Given the description of an element on the screen output the (x, y) to click on. 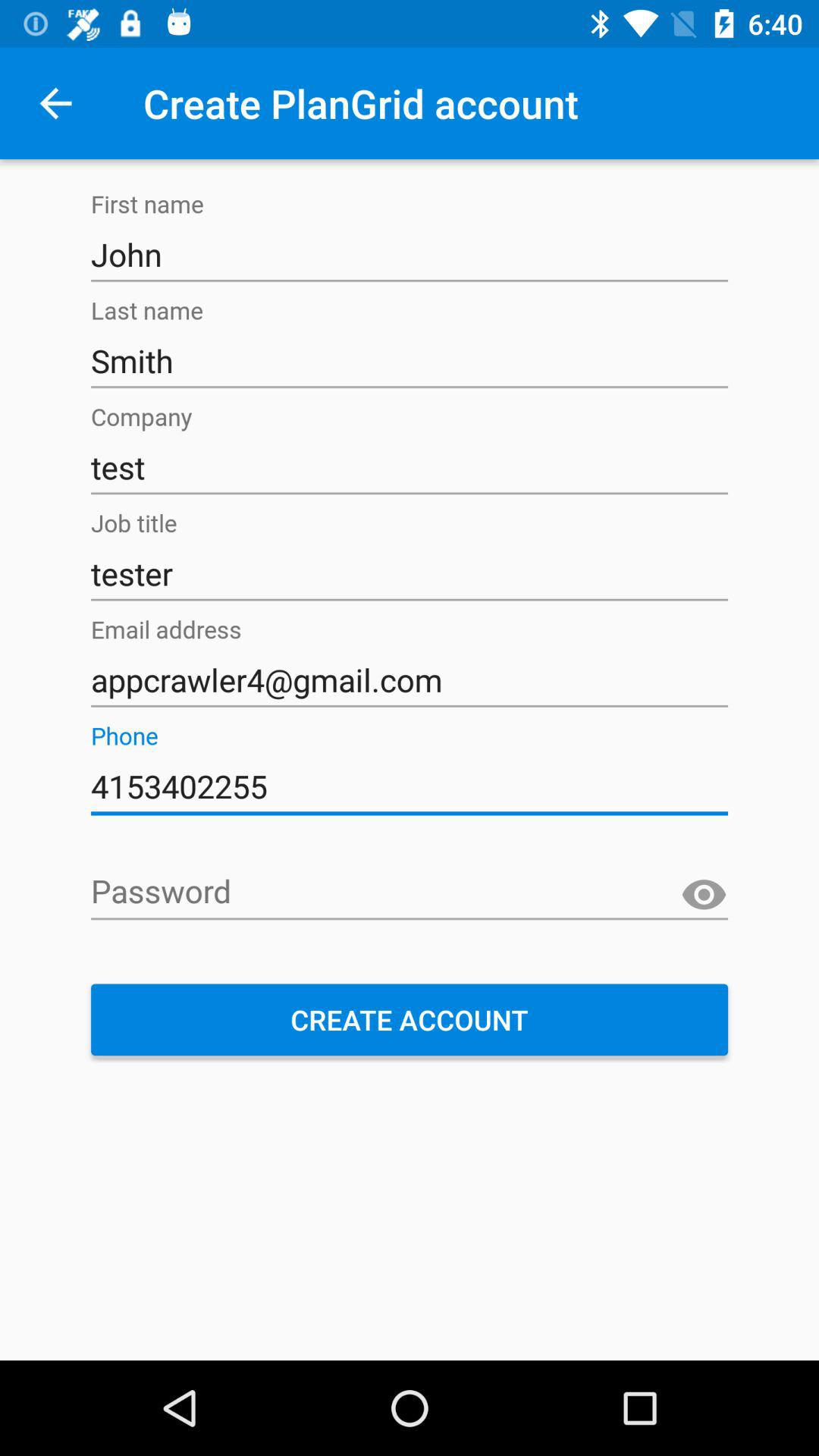
click the icon below appcrawler4@gmail.com (409, 786)
